Given the description of an element on the screen output the (x, y) to click on. 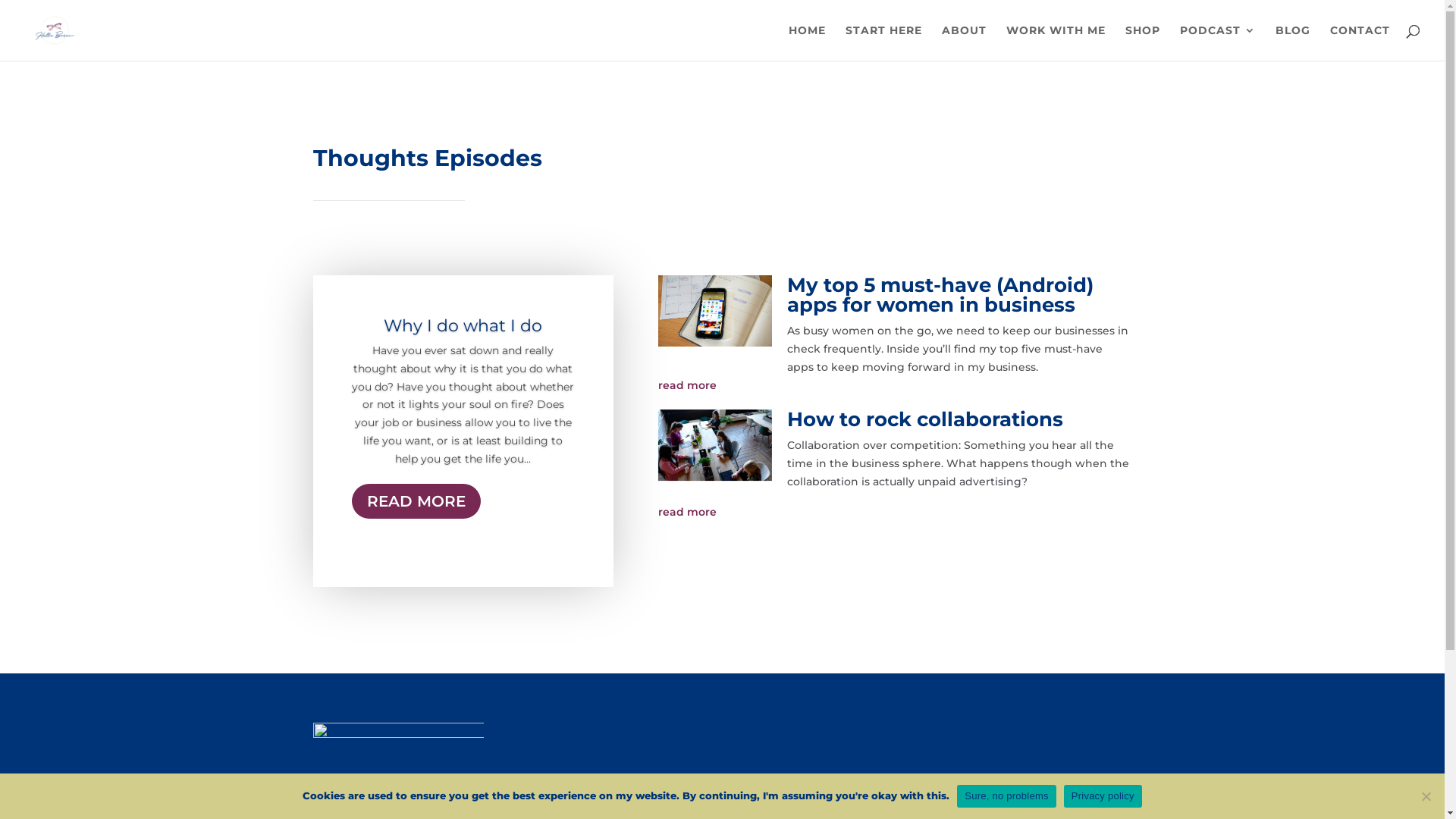
Sure, no problems Element type: text (1006, 795)
No Element type: hover (1425, 795)
PODCAST Element type: text (1217, 42)
START HERE Element type: text (883, 42)
READ MORE Element type: text (415, 500)
How to rock collaborations Element type: text (925, 419)
CONTACT Element type: text (1360, 42)
read more Element type: text (894, 385)
Privacy policy Element type: text (1102, 795)
My top 5 must-have (Android) apps for women in business Element type: text (940, 294)
HOME Element type: text (806, 42)
3 Element type: text (475, 555)
SHOP Element type: text (1142, 42)
1 Element type: text (449, 555)
2 Element type: text (462, 555)
Why I do what I do Element type: text (462, 325)
BLOG Element type: text (1292, 42)
read more Element type: text (894, 512)
ABOUT Element type: text (963, 42)
WORK WITH ME Element type: text (1055, 42)
